Given the description of an element on the screen output the (x, y) to click on. 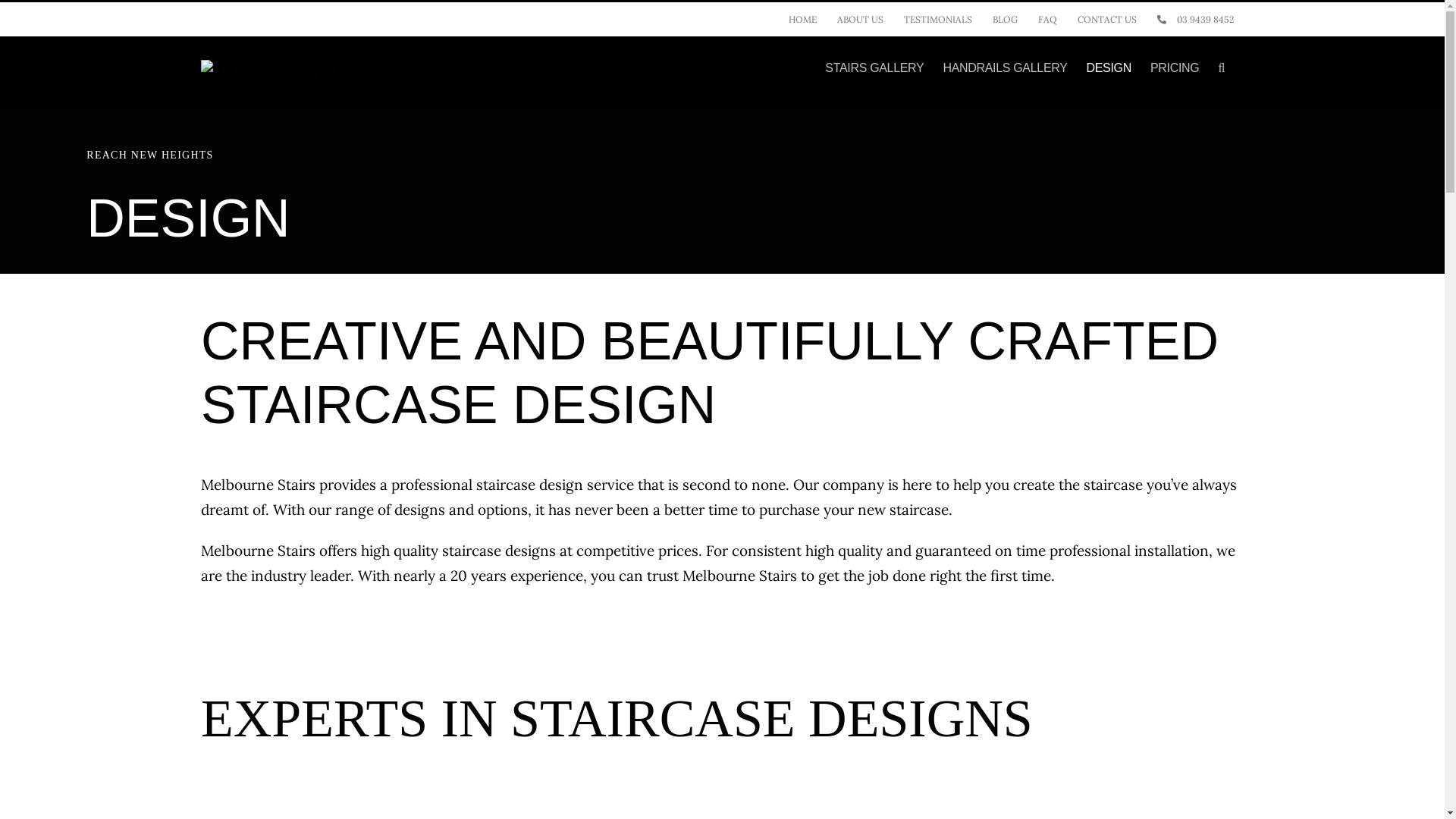
HOME Element type: text (802, 18)
TESTIMONIALS Element type: text (938, 18)
DESIGN Element type: text (1108, 68)
ABOUT US Element type: text (860, 18)
03 9439 8452 Element type: text (1195, 18)
CONTACT US Element type: text (1106, 18)
Melbourne Stairs Element type: text (257, 484)
FAQ Element type: text (1047, 18)
BLOG Element type: text (1004, 18)
HANDRAILS GALLERY Element type: text (1004, 68)
Search Element type: hover (1220, 68)
STAIRS GALLERY Element type: text (874, 68)
PRICING Element type: text (1174, 68)
